Given the description of an element on the screen output the (x, y) to click on. 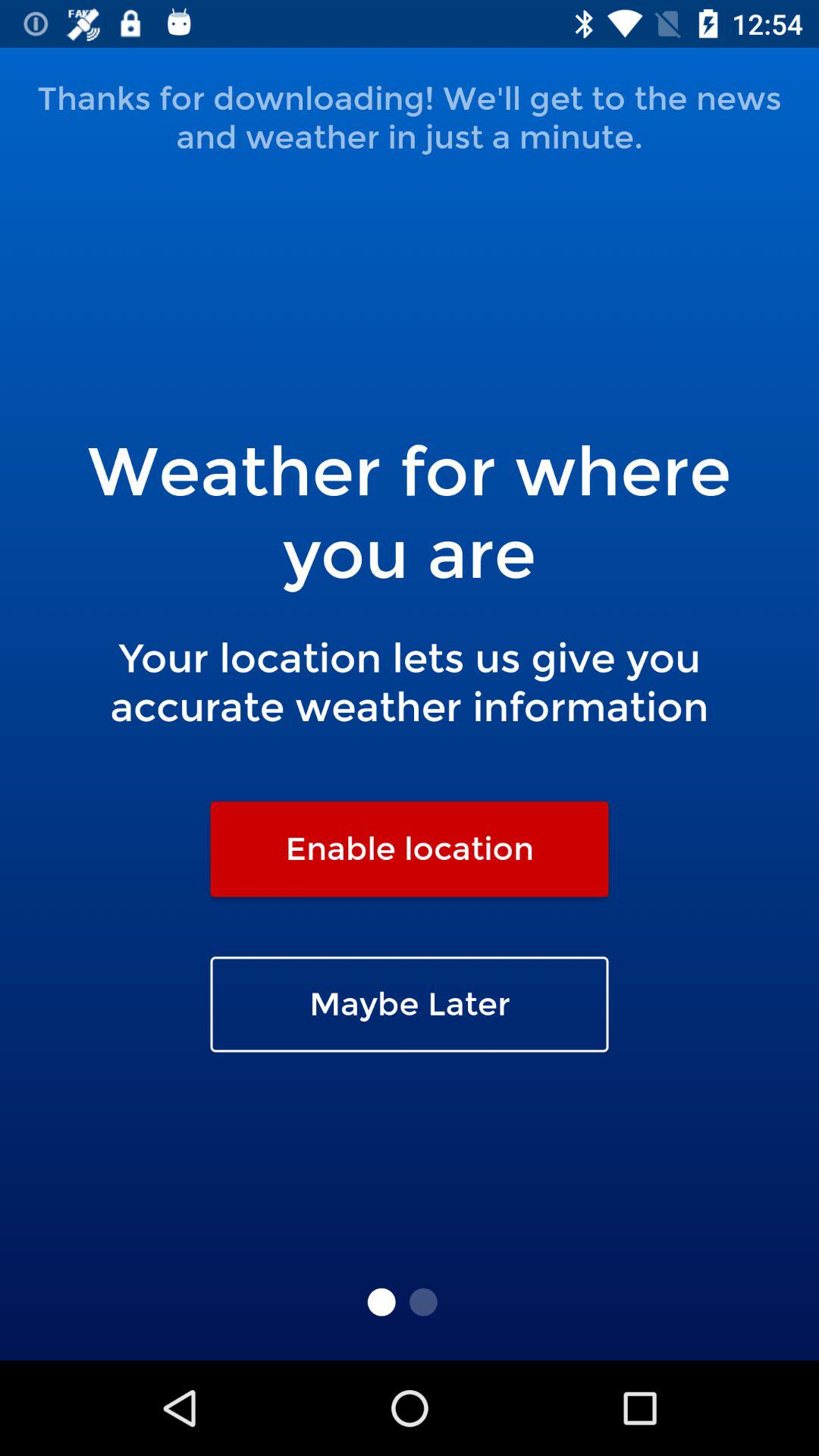
launch item below your location lets icon (409, 848)
